Given the description of an element on the screen output the (x, y) to click on. 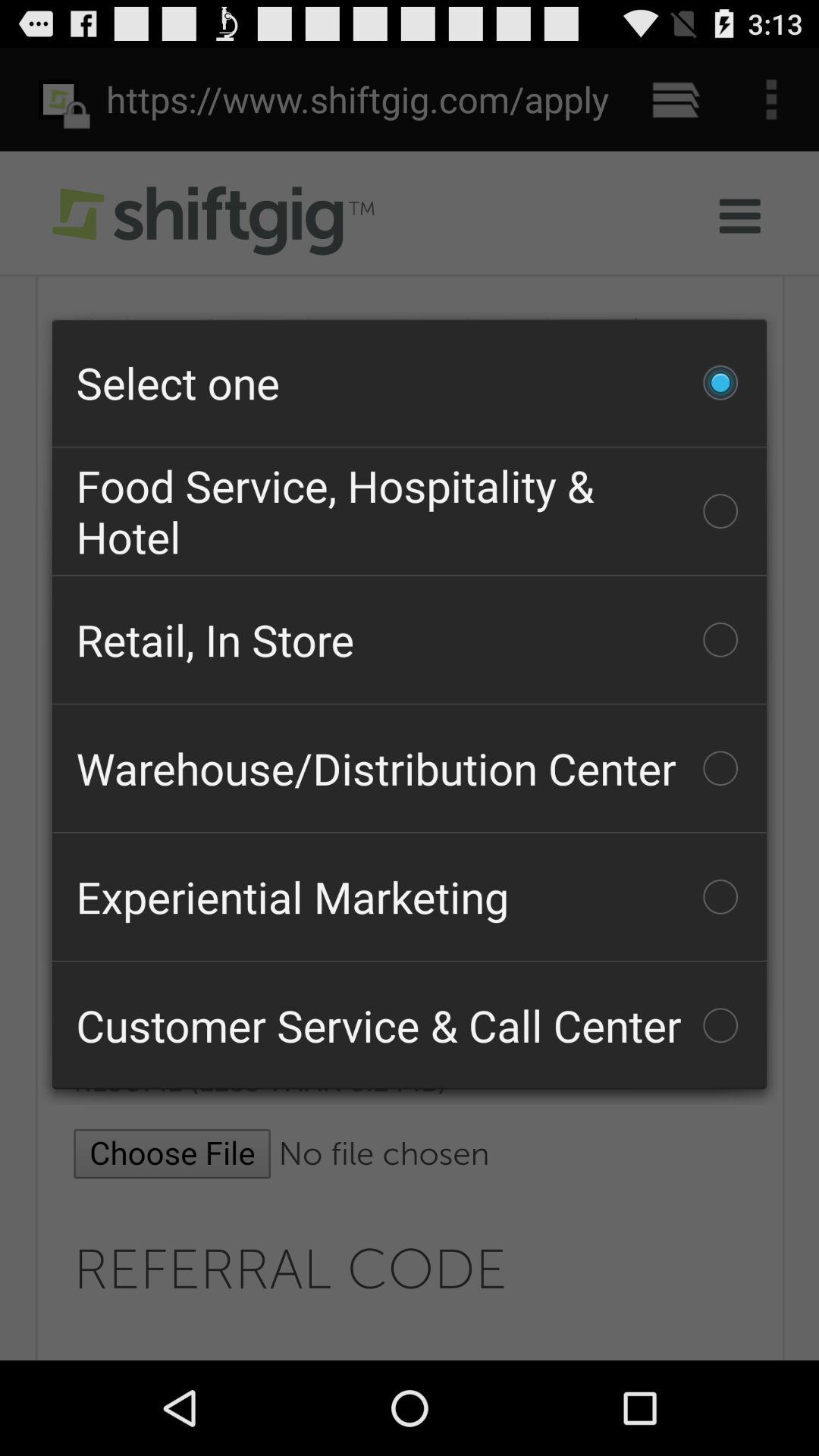
scroll until food service hospitality (409, 511)
